Given the description of an element on the screen output the (x, y) to click on. 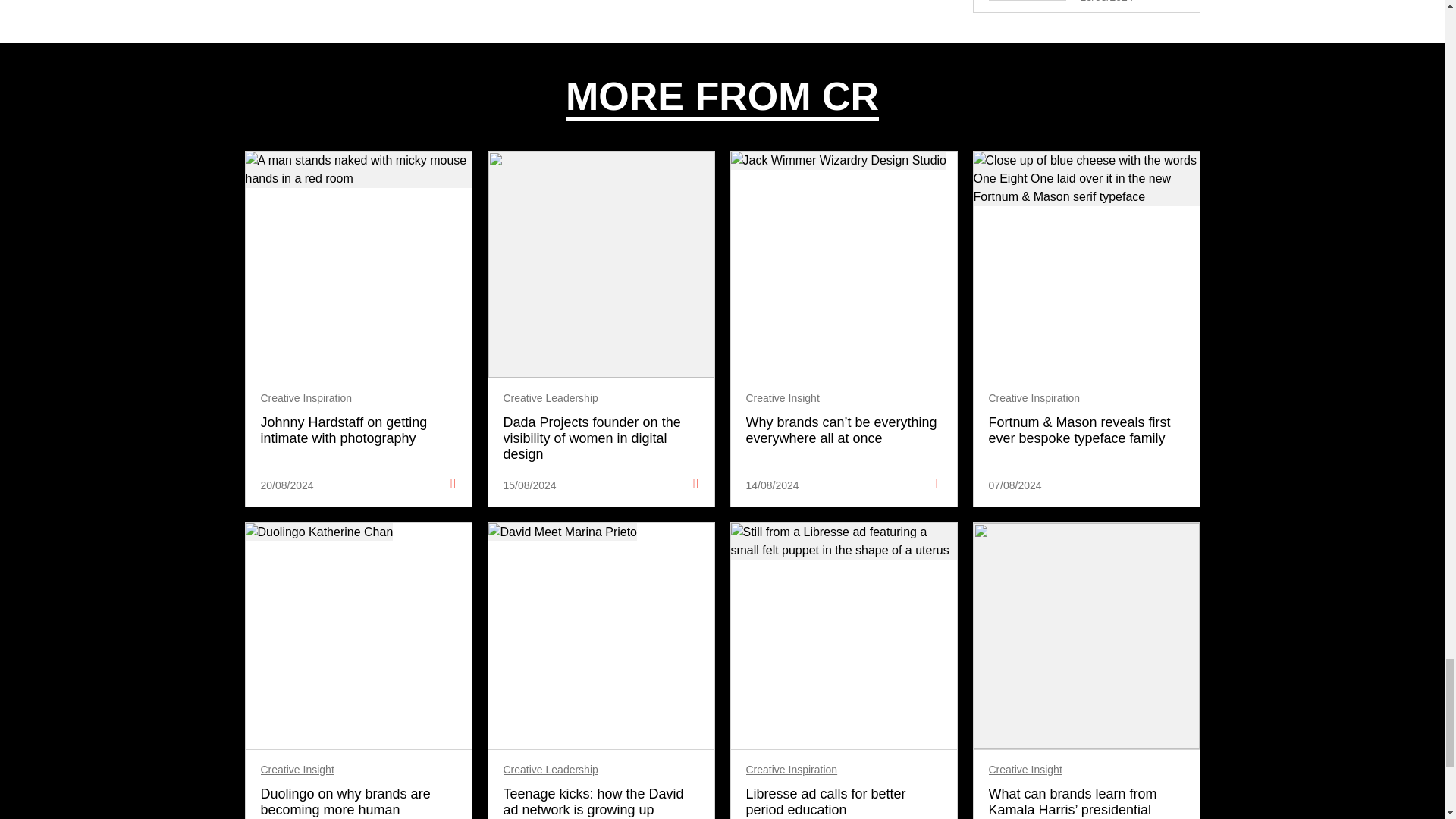
Creative Insight (782, 398)
Johnny Hardstaff on getting intimate with photography (358, 430)
Creative Inspiration (306, 398)
Creative Inspiration (1034, 398)
Creative Leadership (550, 398)
